Given the description of an element on the screen output the (x, y) to click on. 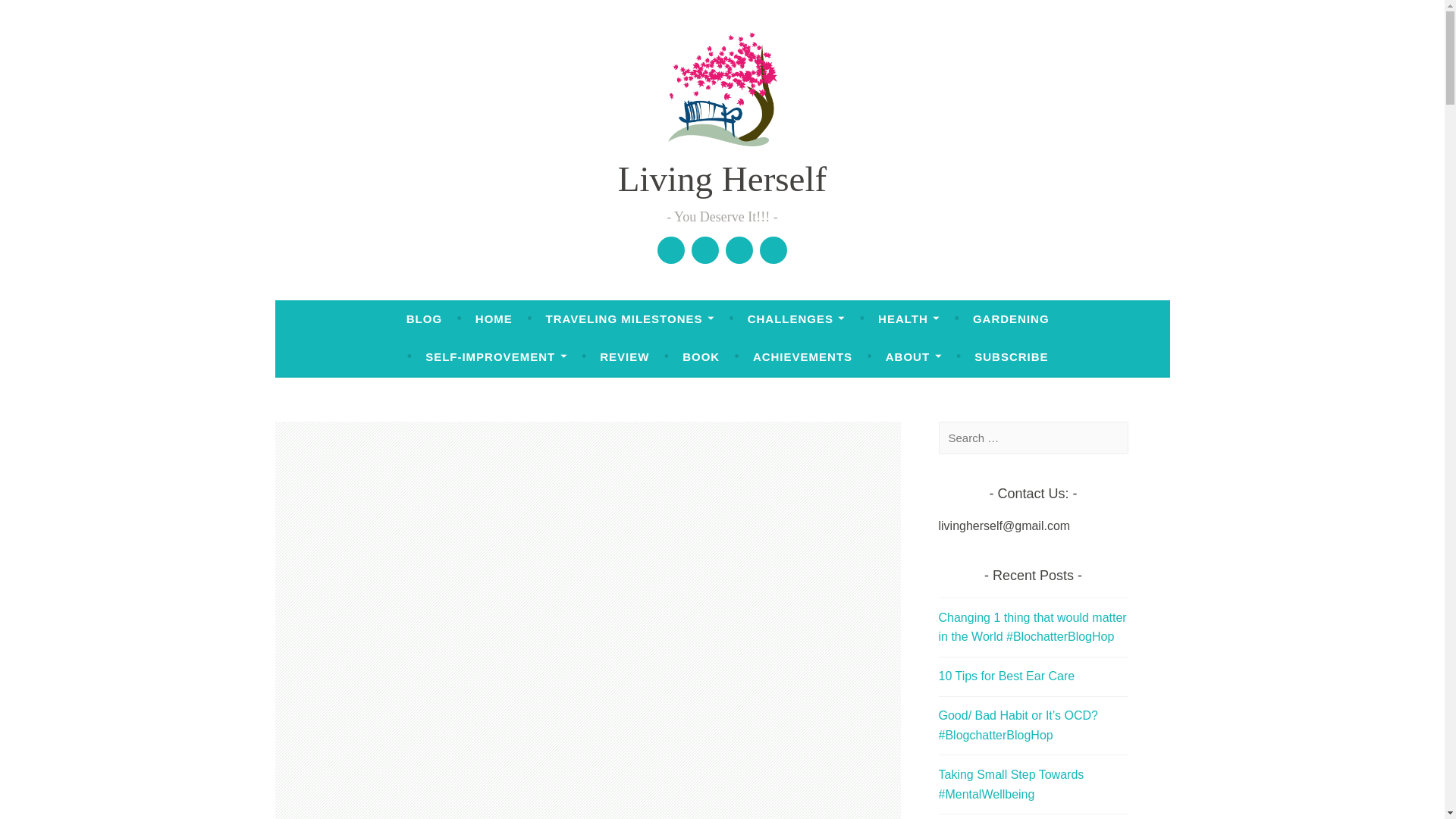
Instagram (772, 249)
ABOUT (913, 357)
pinterest (739, 249)
TRAVELING MILESTONES (630, 318)
Facebook (670, 249)
Twitter (705, 249)
GARDENING (1010, 318)
SUBSCRIBE (1011, 357)
Living Herself (722, 178)
HOME (494, 318)
